Given the description of an element on the screen output the (x, y) to click on. 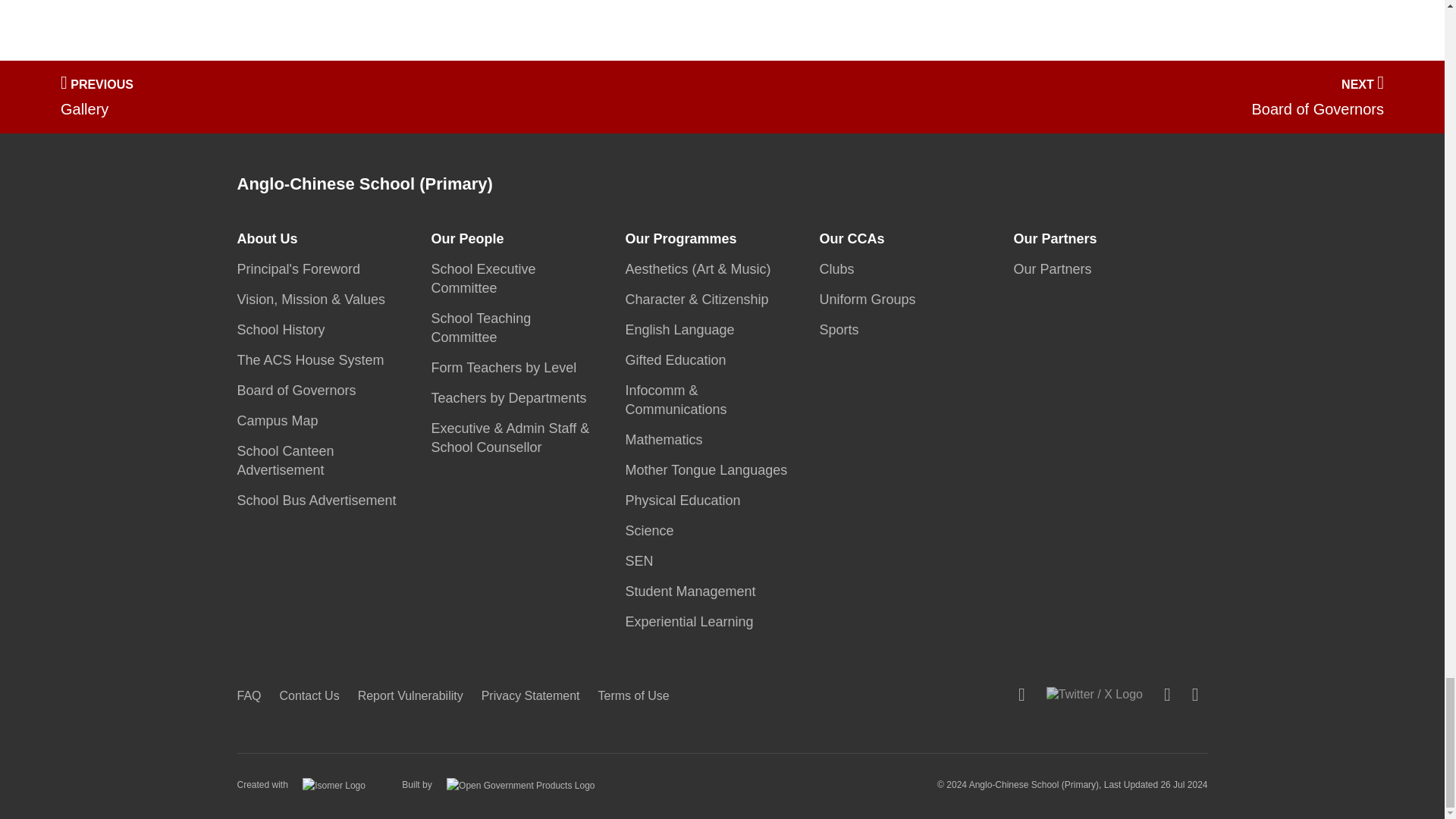
LinkedIn (1195, 694)
Instagram (1166, 694)
Facebook (1021, 694)
